Given the description of an element on the screen output the (x, y) to click on. 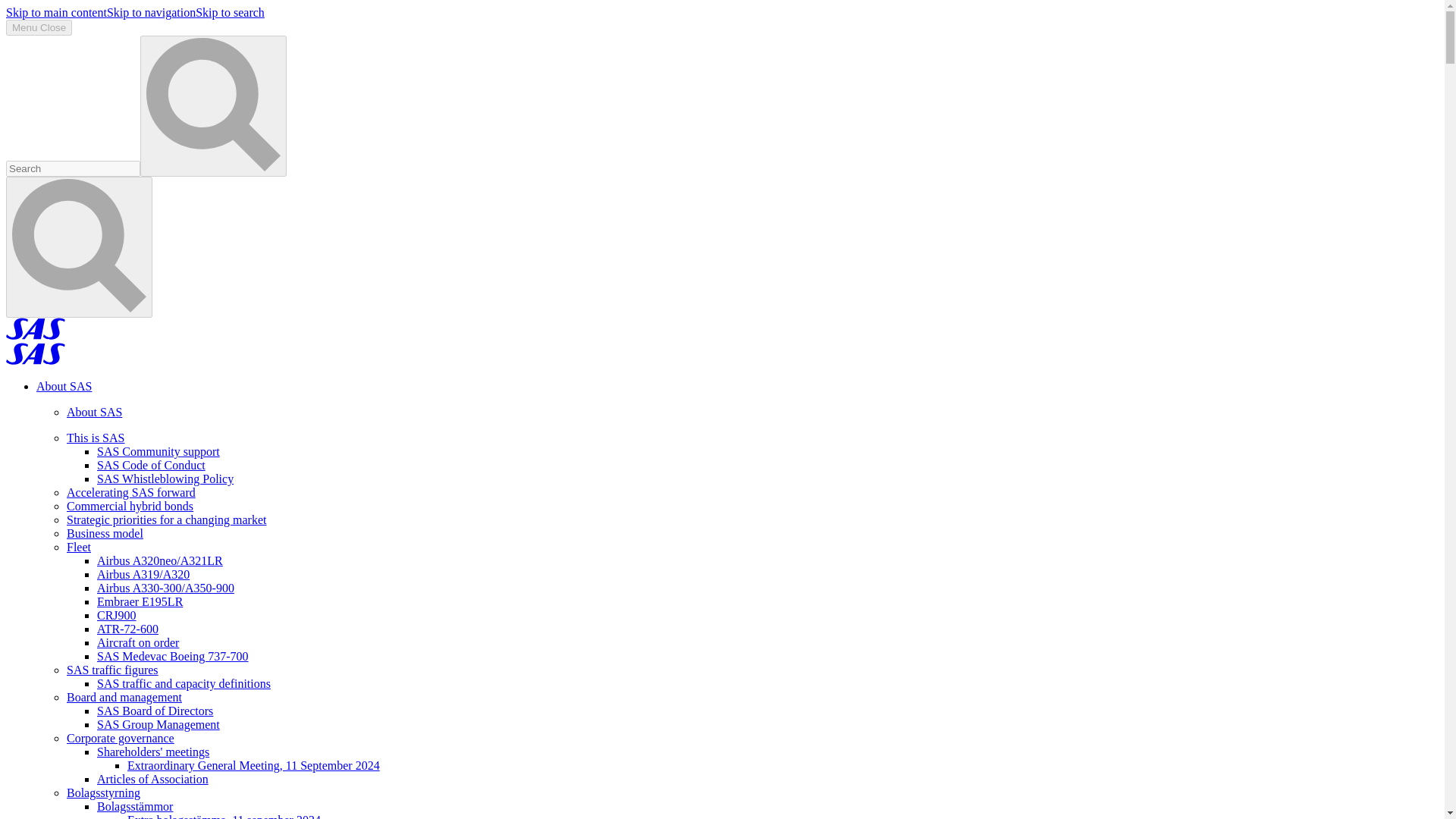
SAS Code of Conduct (151, 464)
SAS Group Management (158, 724)
SAS Board of Directors (154, 710)
SAS Medevac Boeing 737-700 (172, 656)
Skip to navigation (150, 11)
Skip to search (229, 11)
SAS Whistleblowing Policy (164, 478)
Fleet (78, 546)
Skip to main content (55, 11)
Commercial hybrid bonds (129, 505)
